Given the description of an element on the screen output the (x, y) to click on. 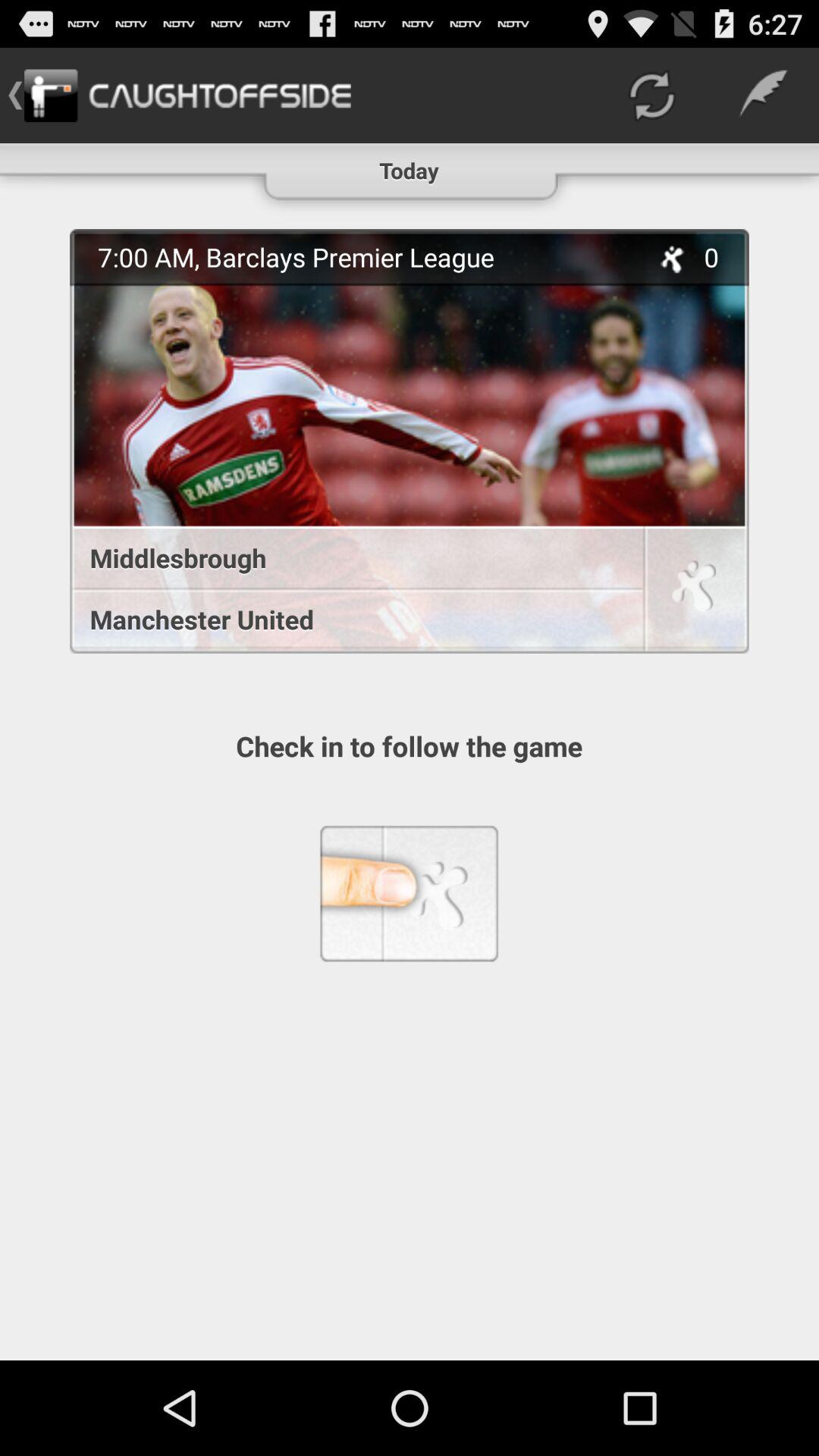
choose item to the right of the today (651, 95)
